Given the description of an element on the screen output the (x, y) to click on. 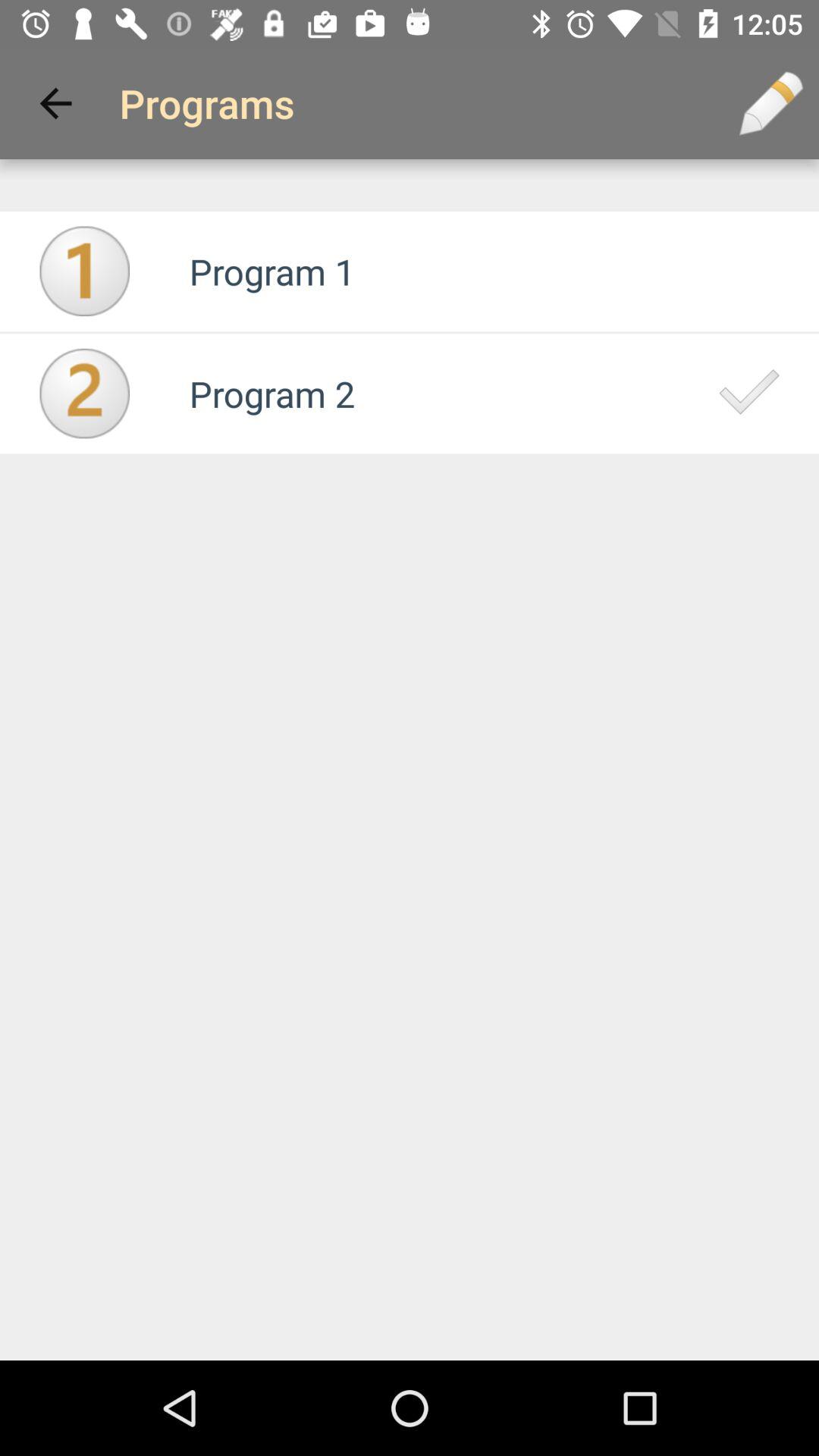
open the icon to the right of programs app (771, 103)
